Given the description of an element on the screen output the (x, y) to click on. 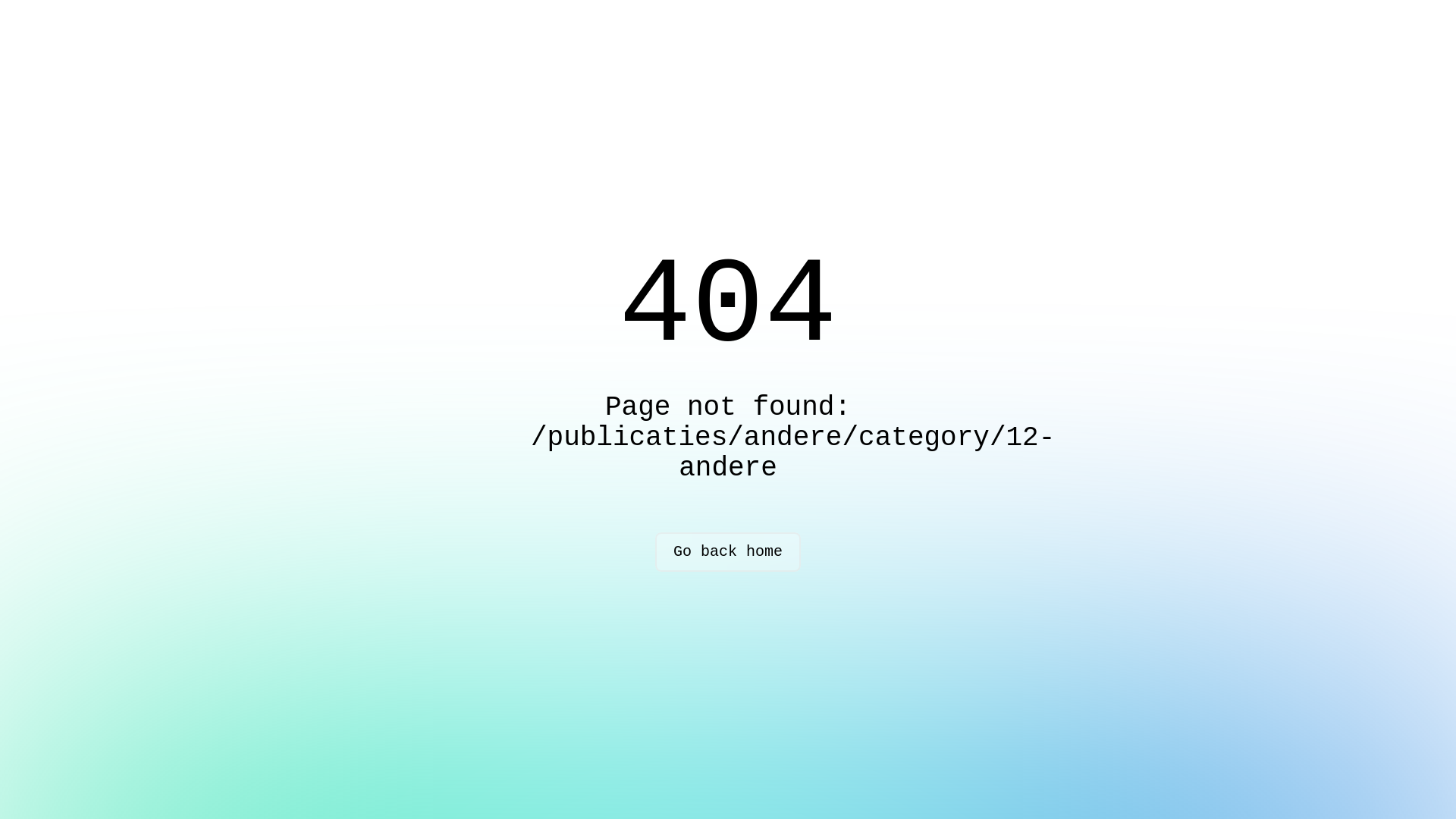
Go back home Element type: text (727, 551)
